Given the description of an element on the screen output the (x, y) to click on. 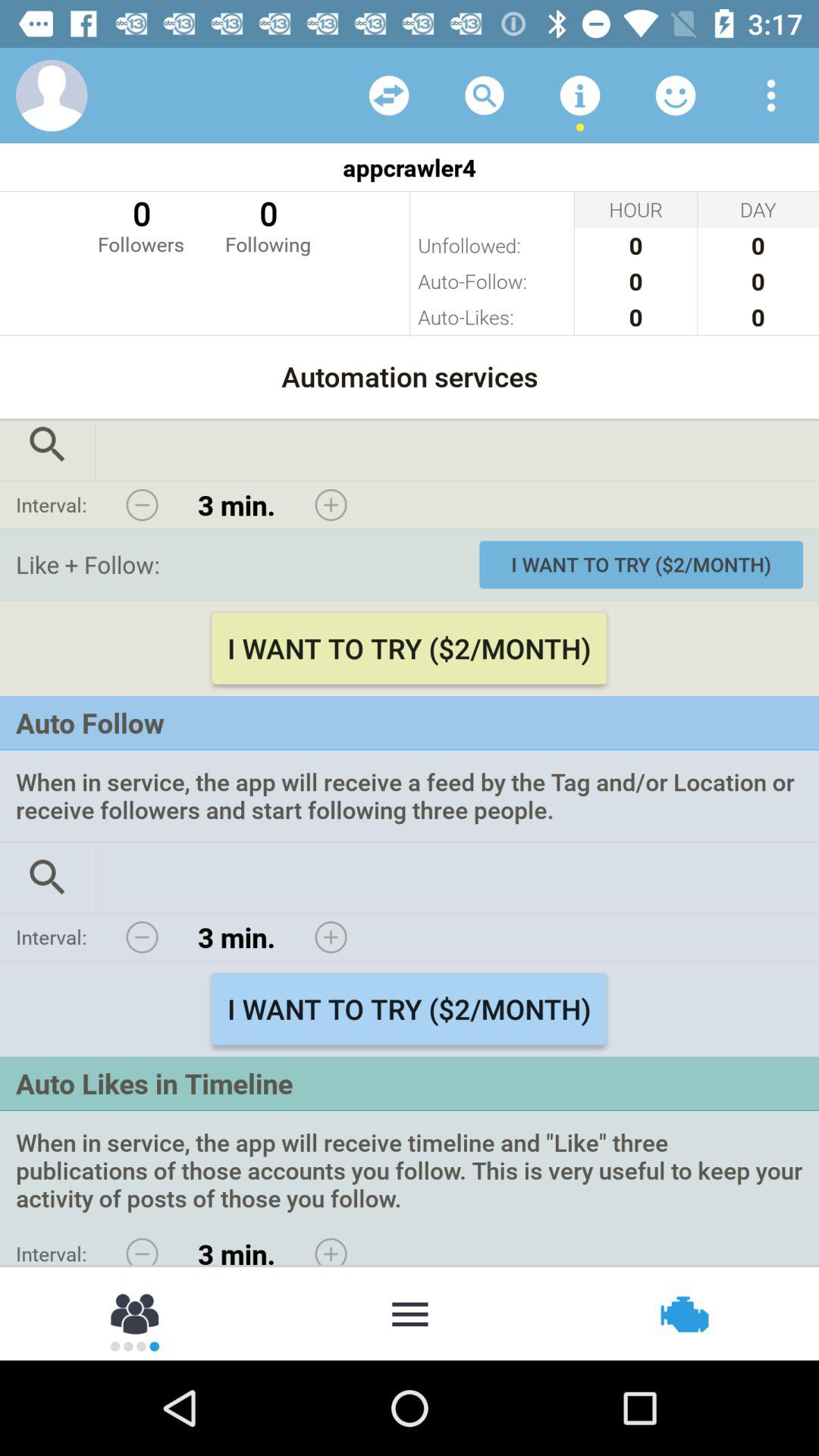
click the icon below appcrawler4 icon (268, 224)
